Given the description of an element on the screen output the (x, y) to click on. 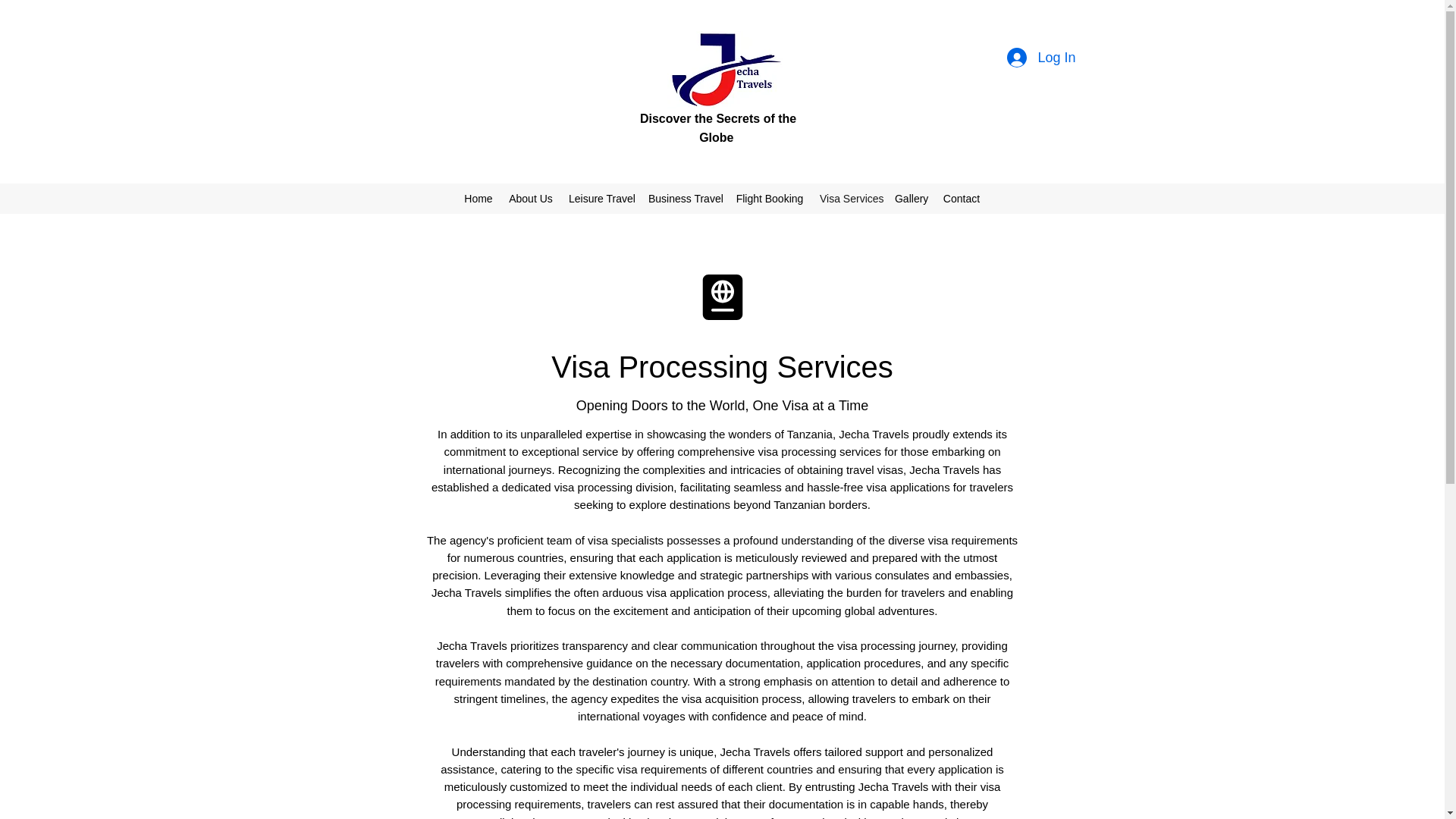
Log In (1040, 57)
Home (478, 198)
About Us (530, 198)
Visa Services (849, 198)
Leisure Travel (600, 198)
Flight Booking (769, 198)
Contact (961, 198)
Gallery (910, 198)
